Given the description of an element on the screen output the (x, y) to click on. 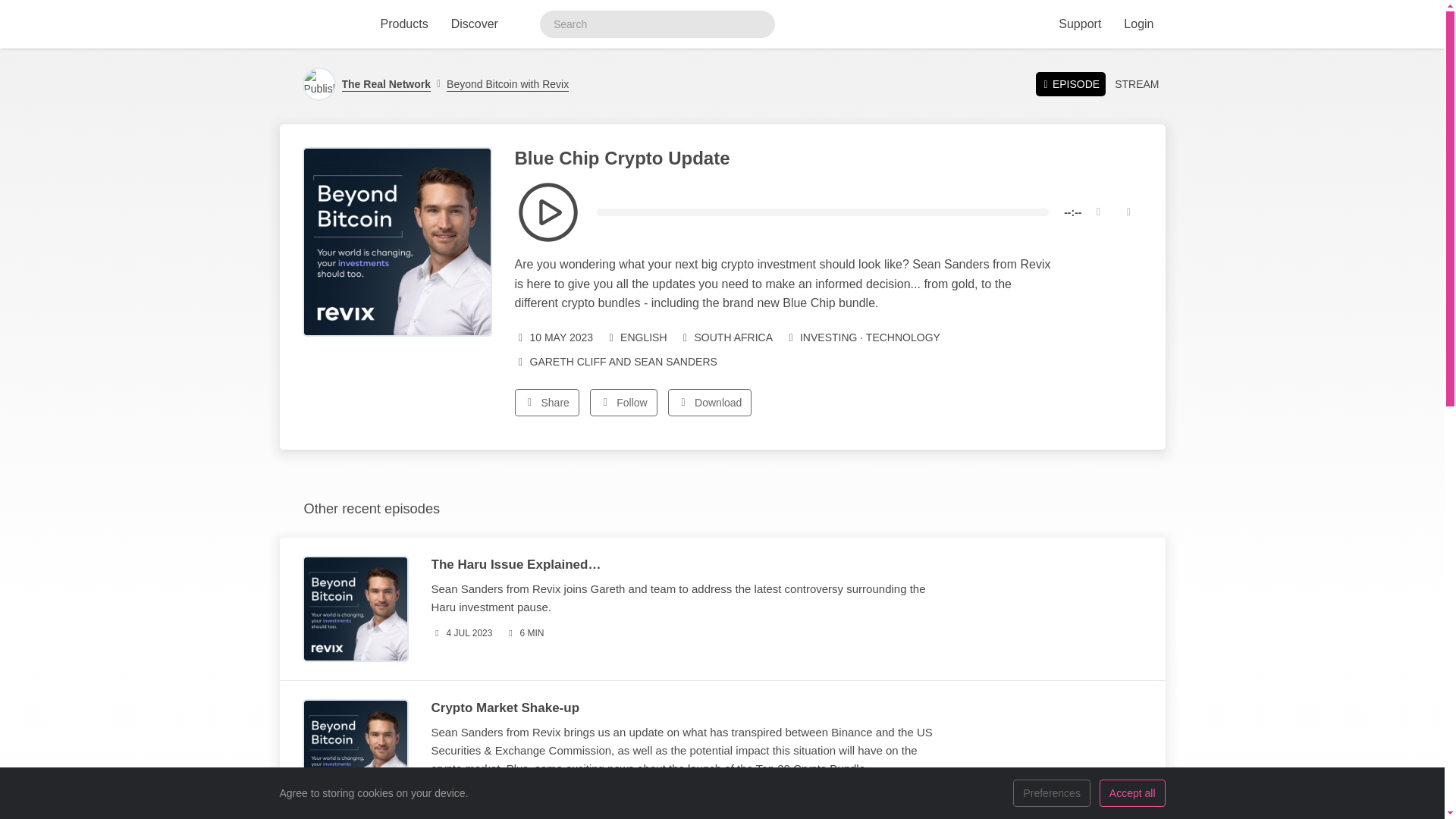
Duration (526, 795)
The Real Network (384, 84)
STREAM (1136, 84)
Products (403, 24)
Support (1079, 24)
Categories (862, 337)
Visit iono.fm homepage (316, 24)
Beyond Bitcoin with Revix (502, 84)
Duration (523, 633)
 EPISODE (1070, 83)
Published (461, 795)
Publish date (552, 337)
Skip backward (1098, 212)
Language (635, 337)
Search (758, 23)
